Given the description of an element on the screen output the (x, y) to click on. 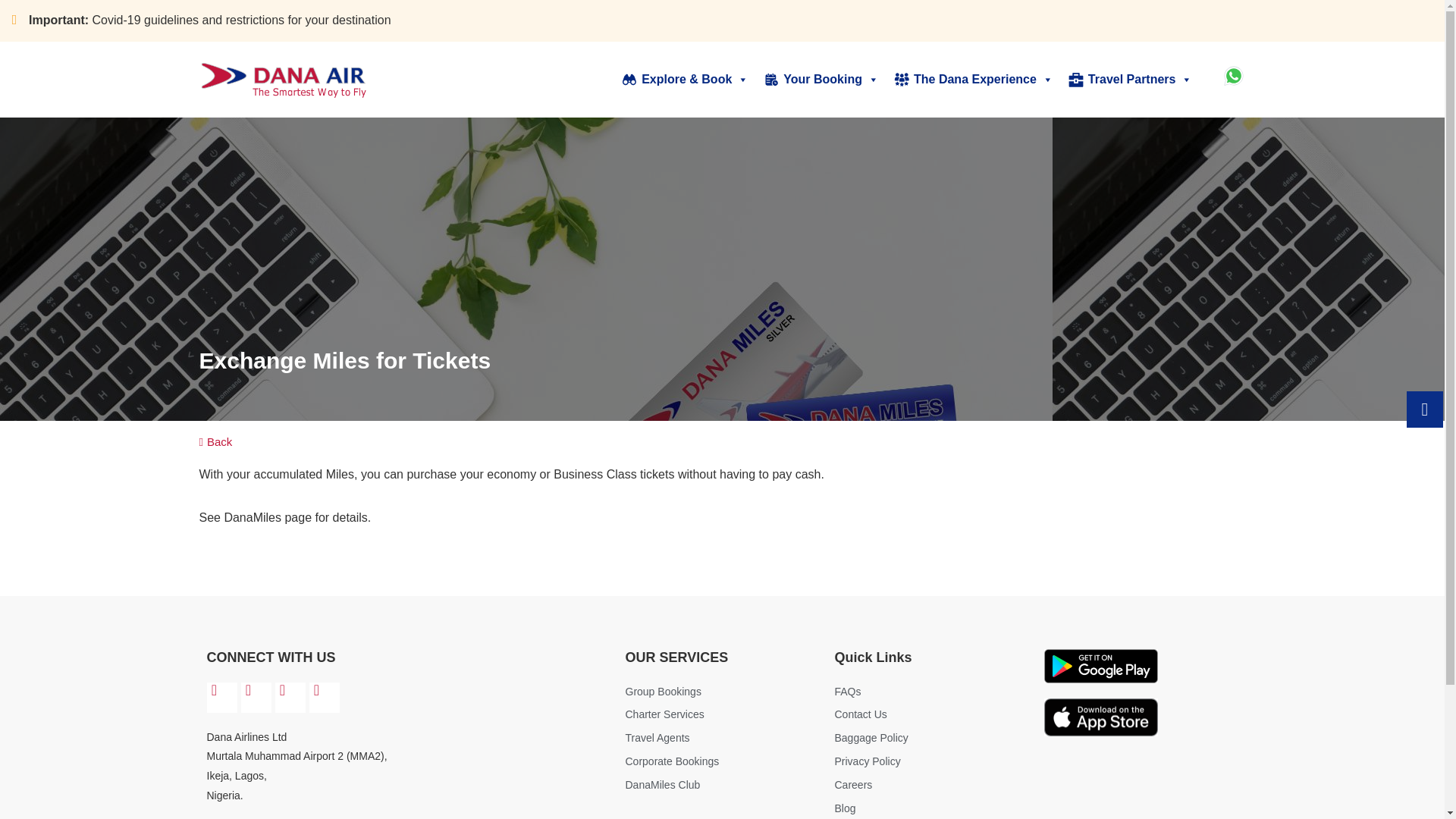
Youtube (220, 697)
Facebook-f (289, 697)
Back (222, 441)
Your Booking (820, 79)
The Dana Experience (973, 79)
Group Bookings (721, 691)
Instagram (255, 697)
Travel Partners (1130, 79)
Twitter (323, 697)
